Given the description of an element on the screen output the (x, y) to click on. 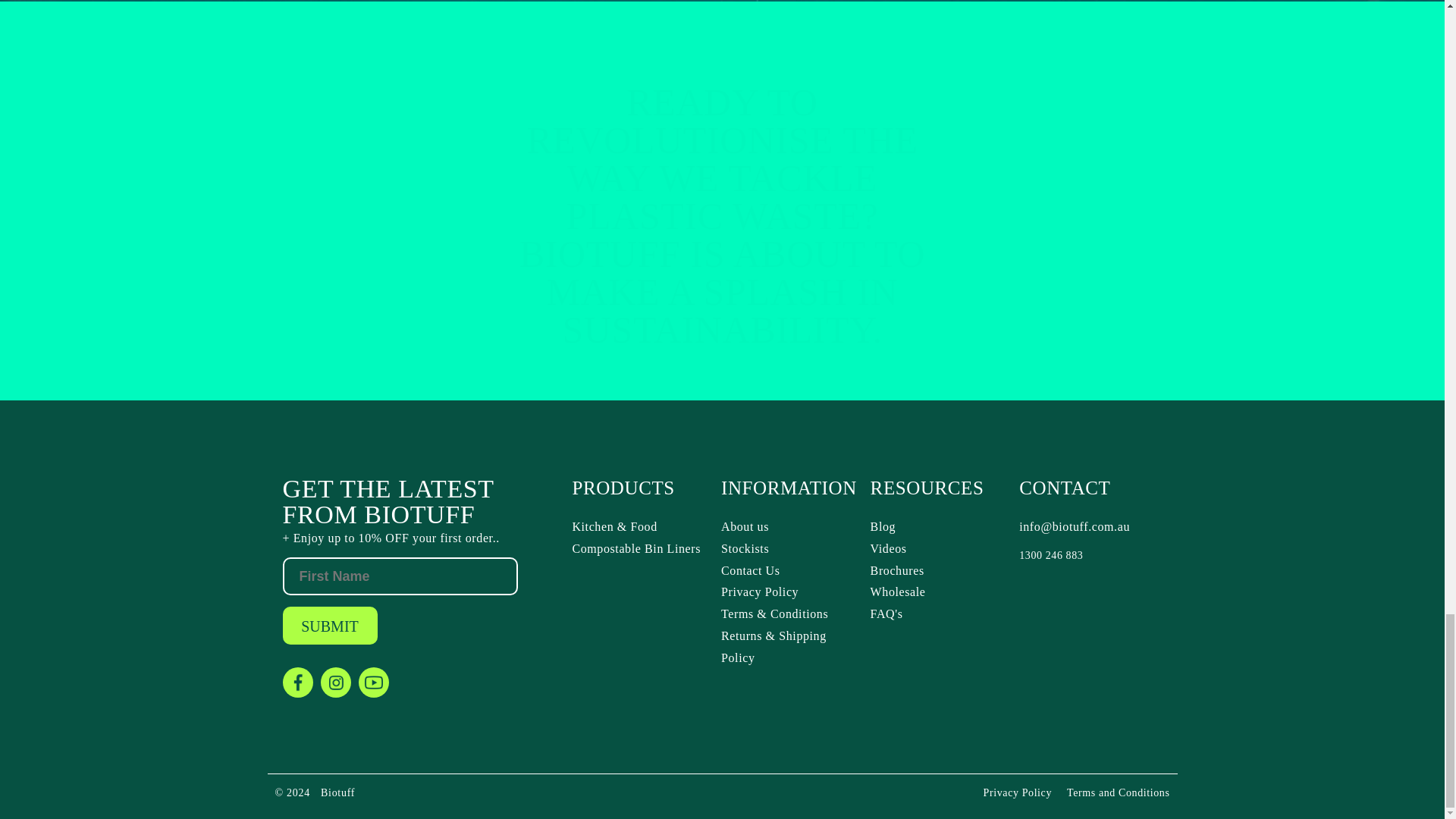
About us (788, 527)
Blog (938, 527)
Stockists (788, 549)
FAQ's (938, 614)
Contact Us (788, 571)
Wholesale (938, 592)
Videos (938, 549)
Brochures (938, 571)
Compostable Bin Liners (639, 549)
Privacy Policy (788, 592)
